Given the description of an element on the screen output the (x, y) to click on. 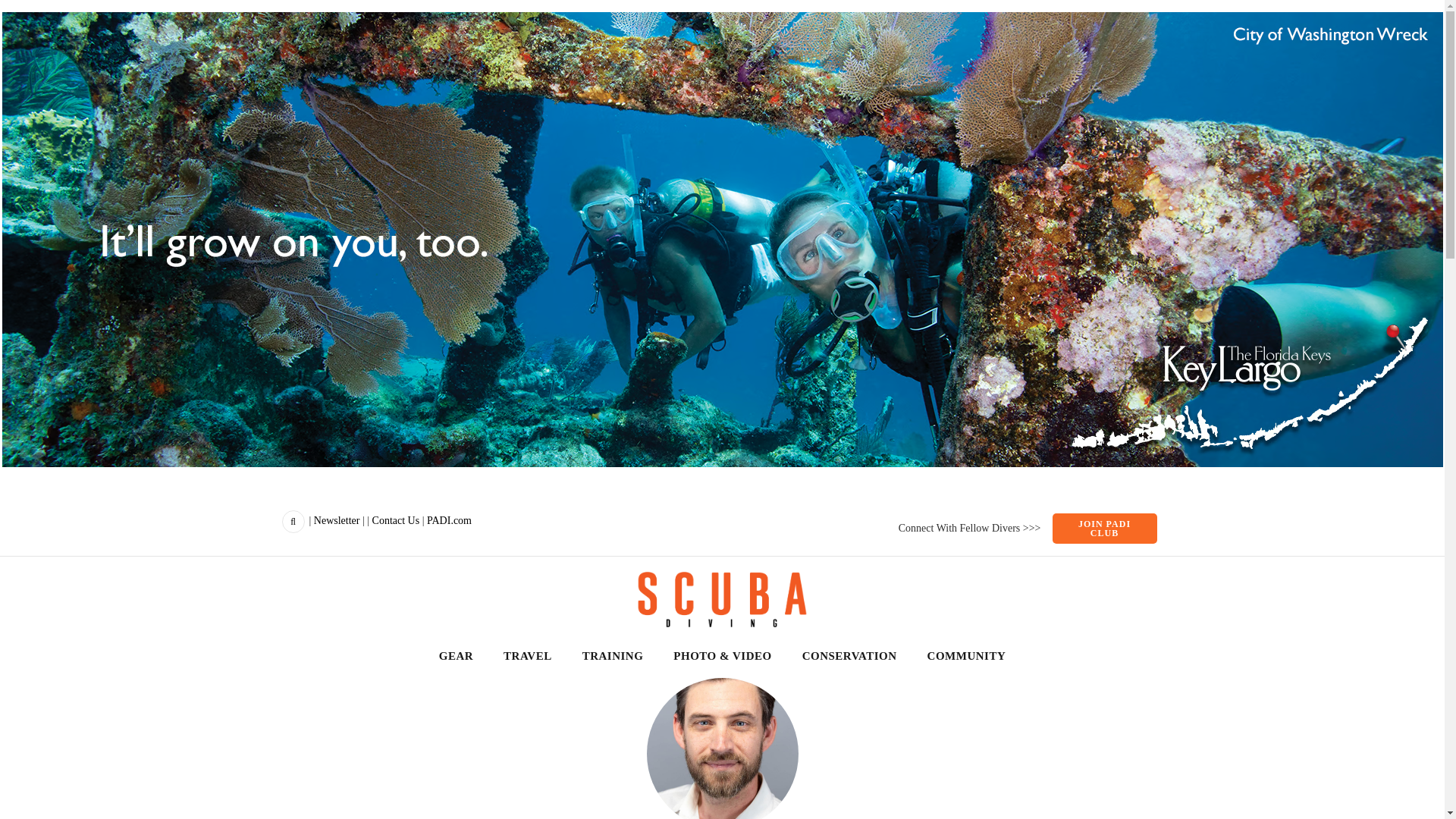
PADI.com (448, 520)
JOIN PADI CLUB (1104, 528)
CONSERVATION (849, 656)
TRAVEL (527, 656)
Newsletter (336, 520)
GEAR (456, 656)
Home (722, 598)
TRAINING (612, 656)
COMMUNITY (966, 656)
Contact Us (396, 520)
Search (418, 584)
